Given the description of an element on the screen output the (x, y) to click on. 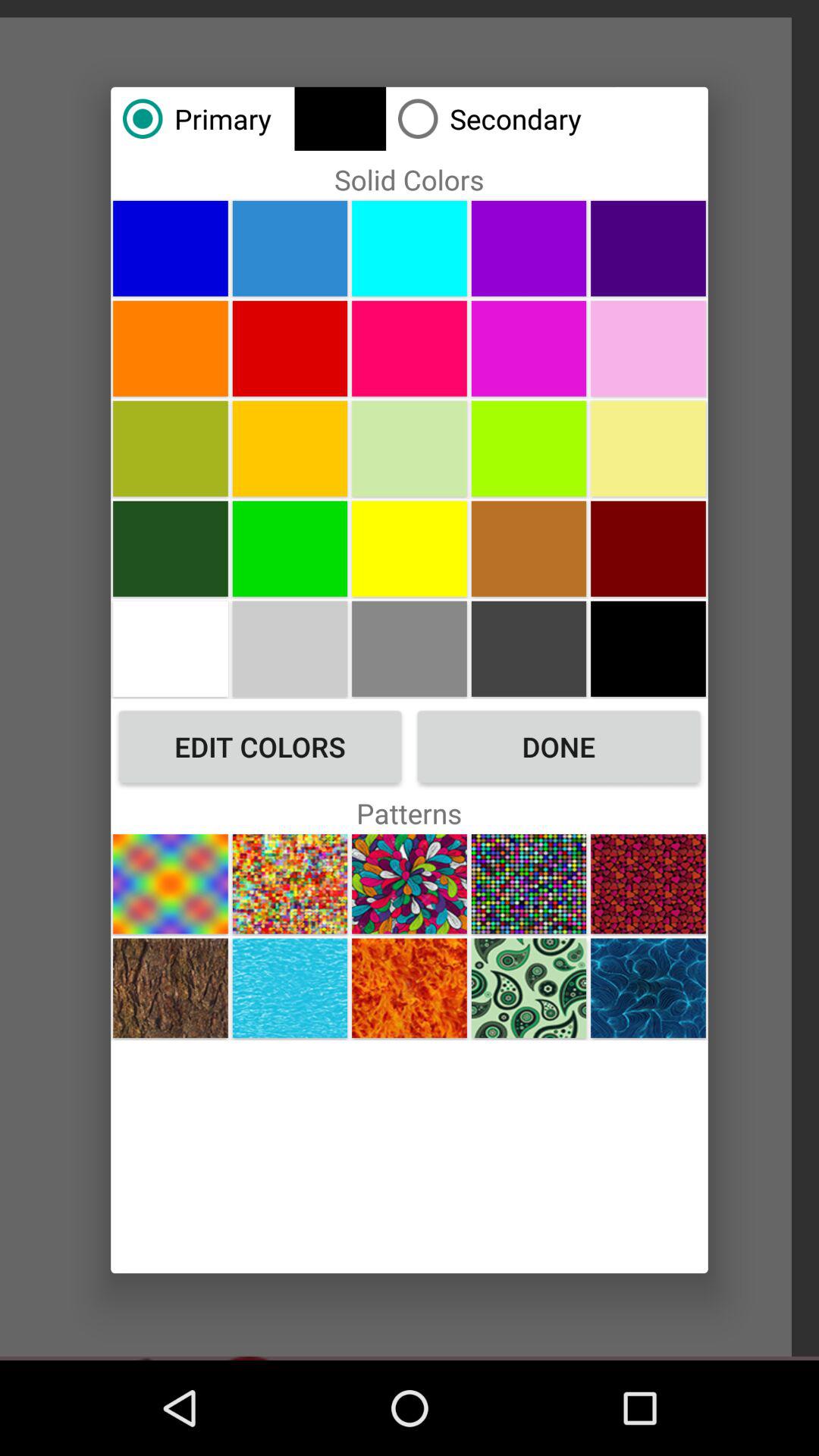
select this pattern (528, 987)
